Given the description of an element on the screen output the (x, y) to click on. 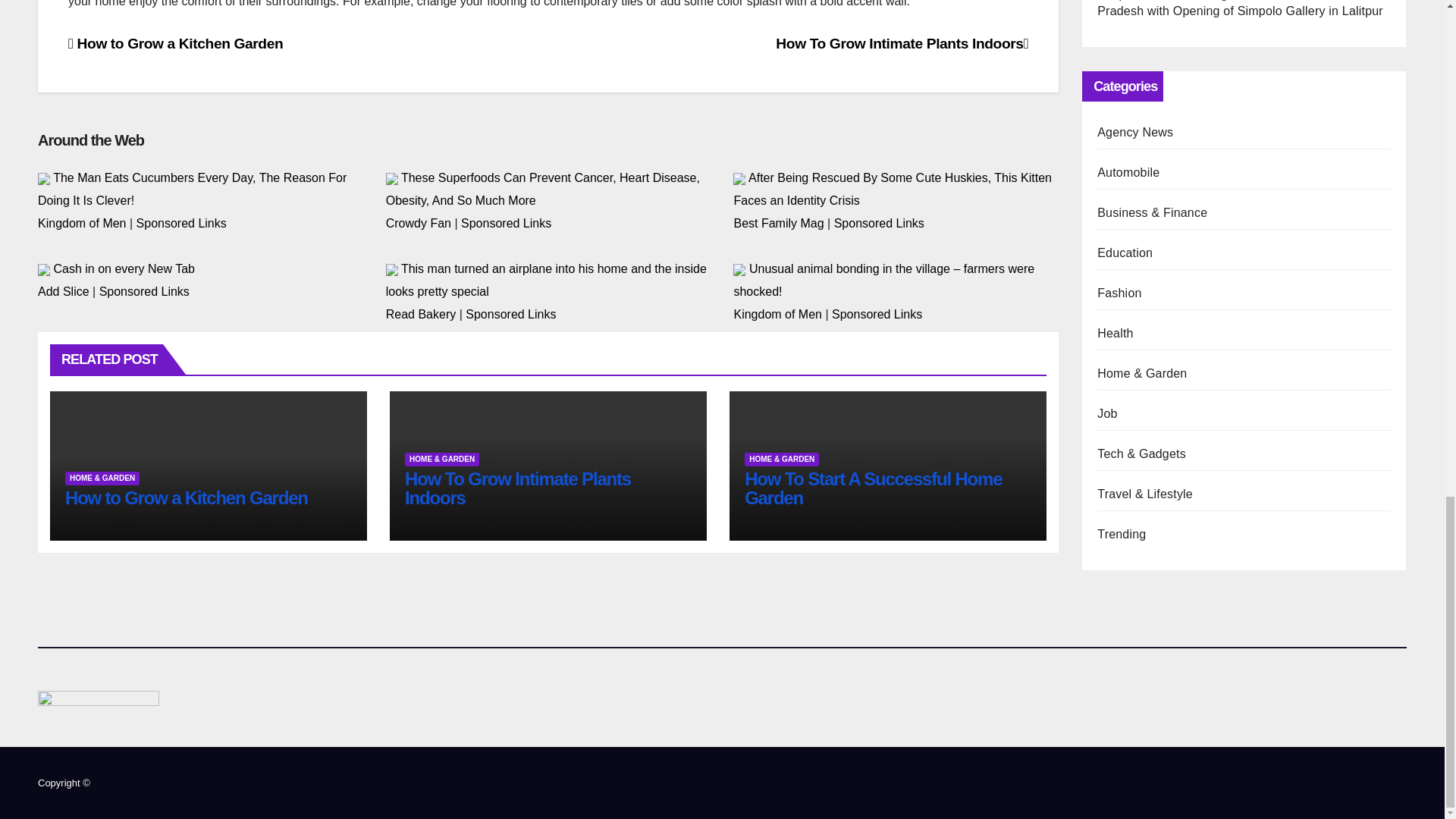
Sponsored Links (879, 223)
Add Slice (62, 291)
Read Bakery (421, 314)
Sponsored Links (144, 291)
How To Grow Intimate Plants Indoors (901, 43)
Sponsored Links (181, 223)
Kingdom of Men (81, 223)
Crowdy Fan (418, 223)
